Given the description of an element on the screen output the (x, y) to click on. 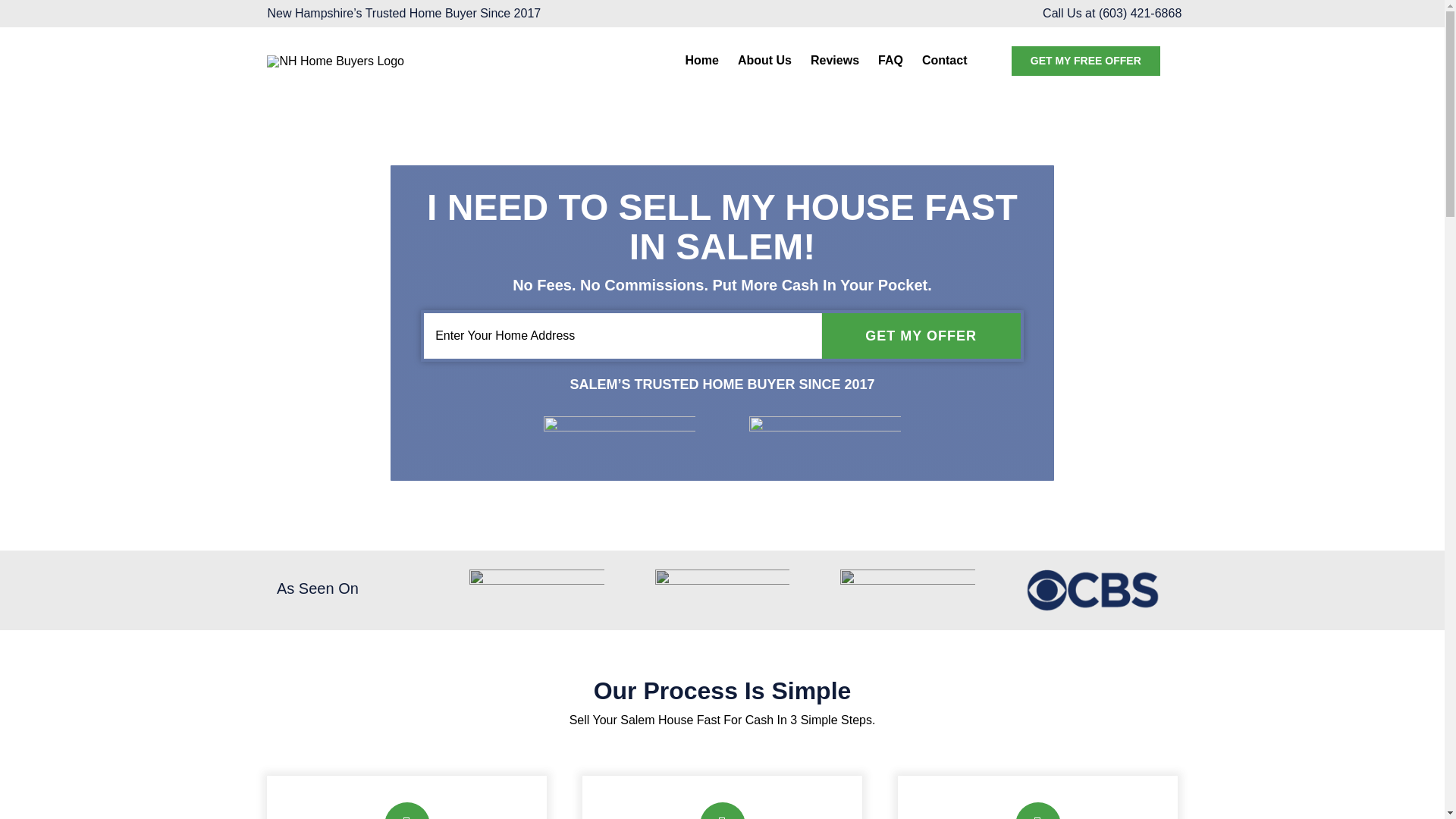
Get My Offer (921, 335)
FAQ (889, 61)
Reviews (834, 61)
we-buy-houses-fast-fox (907, 589)
About Us (765, 61)
companies-that-buy-houses-near-me-nbc (536, 589)
GET MY FREE OFFER (1085, 60)
companies-that-buy-houses-near-me-abc (722, 589)
Home (700, 61)
Get My Offer (921, 335)
cash-home-buyers-on-tv-cbs (1092, 589)
Contact (944, 61)
